Given the description of an element on the screen output the (x, y) to click on. 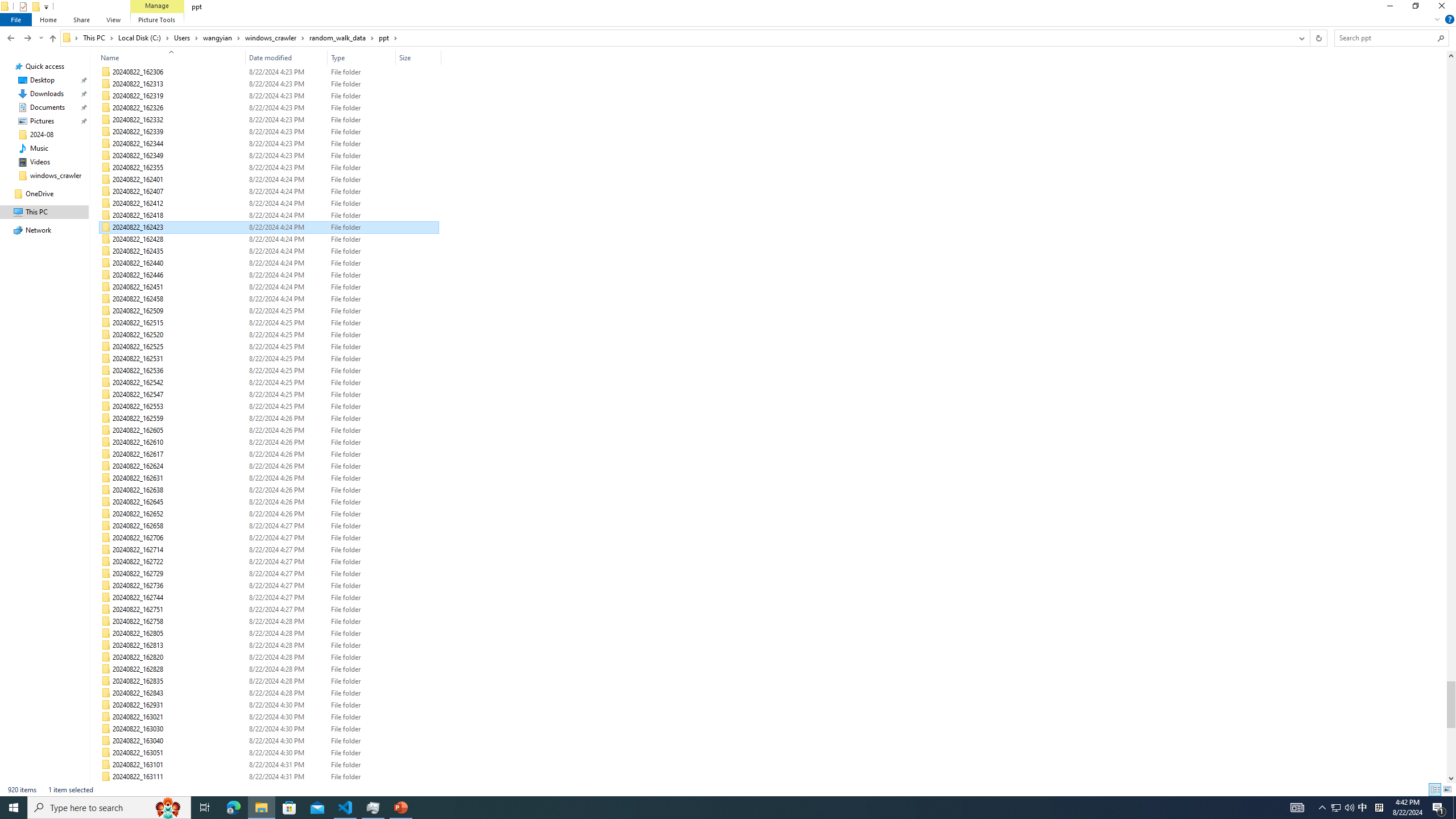
20240822_163030 (269, 729)
20240822_162605 (269, 430)
20240822_162407 (269, 191)
Up to "random_walk_data" (Alt + Up Arrow) (52, 38)
Up band toolbar (52, 39)
20240822_162301 (269, 60)
20240822_162412 (269, 203)
Navigation buttons (24, 37)
20240822_163021 (269, 716)
20240822_162349 (269, 155)
20240822_162332 (269, 119)
20240822_163101 (269, 764)
20240822_162624 (269, 466)
